Given the description of an element on the screen output the (x, y) to click on. 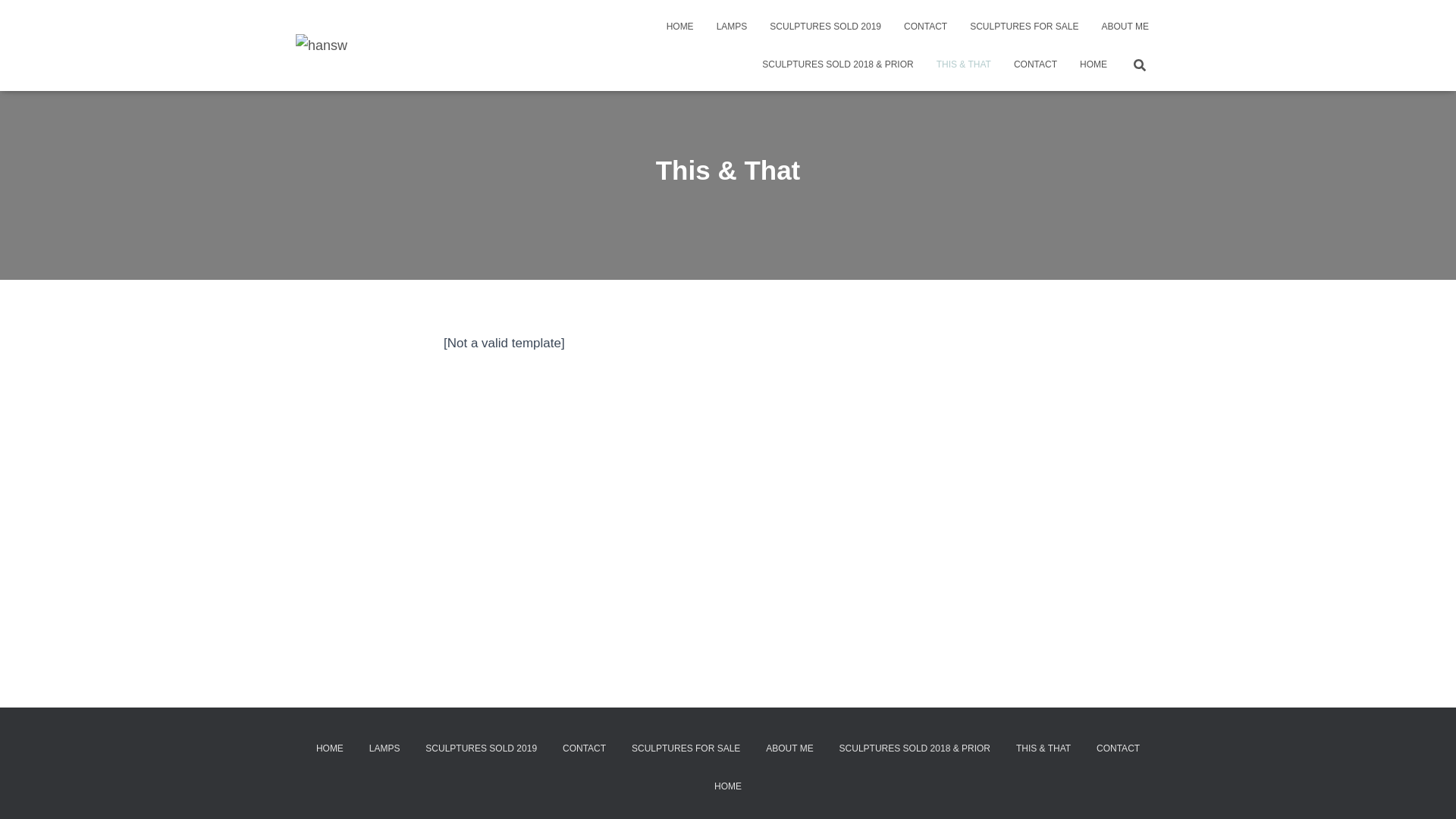
SCULPTURES FOR SALE Element type: text (1023, 26)
hansw Element type: hover (321, 45)
HOME Element type: text (329, 748)
ABOUT ME Element type: text (789, 748)
CONTACT Element type: text (1118, 748)
Search Element type: text (17, 16)
ABOUT ME Element type: text (1125, 26)
HOME Element type: text (1093, 64)
SCULPTURES SOLD 2019 Element type: text (825, 26)
HOME Element type: text (680, 26)
THIS & THAT Element type: text (963, 64)
SCULPTURES SOLD 2018 & PRIOR Element type: text (837, 64)
CONTACT Element type: text (1035, 64)
SCULPTURES SOLD 2018 & PRIOR Element type: text (914, 748)
LAMPS Element type: text (384, 748)
CONTACT Element type: text (925, 26)
SCULPTURES FOR SALE Element type: text (685, 748)
CONTACT Element type: text (584, 748)
THIS & THAT Element type: text (1043, 748)
HOME Element type: text (727, 786)
LAMPS Element type: text (732, 26)
SCULPTURES SOLD 2019 Element type: text (481, 748)
